Given the description of an element on the screen output the (x, y) to click on. 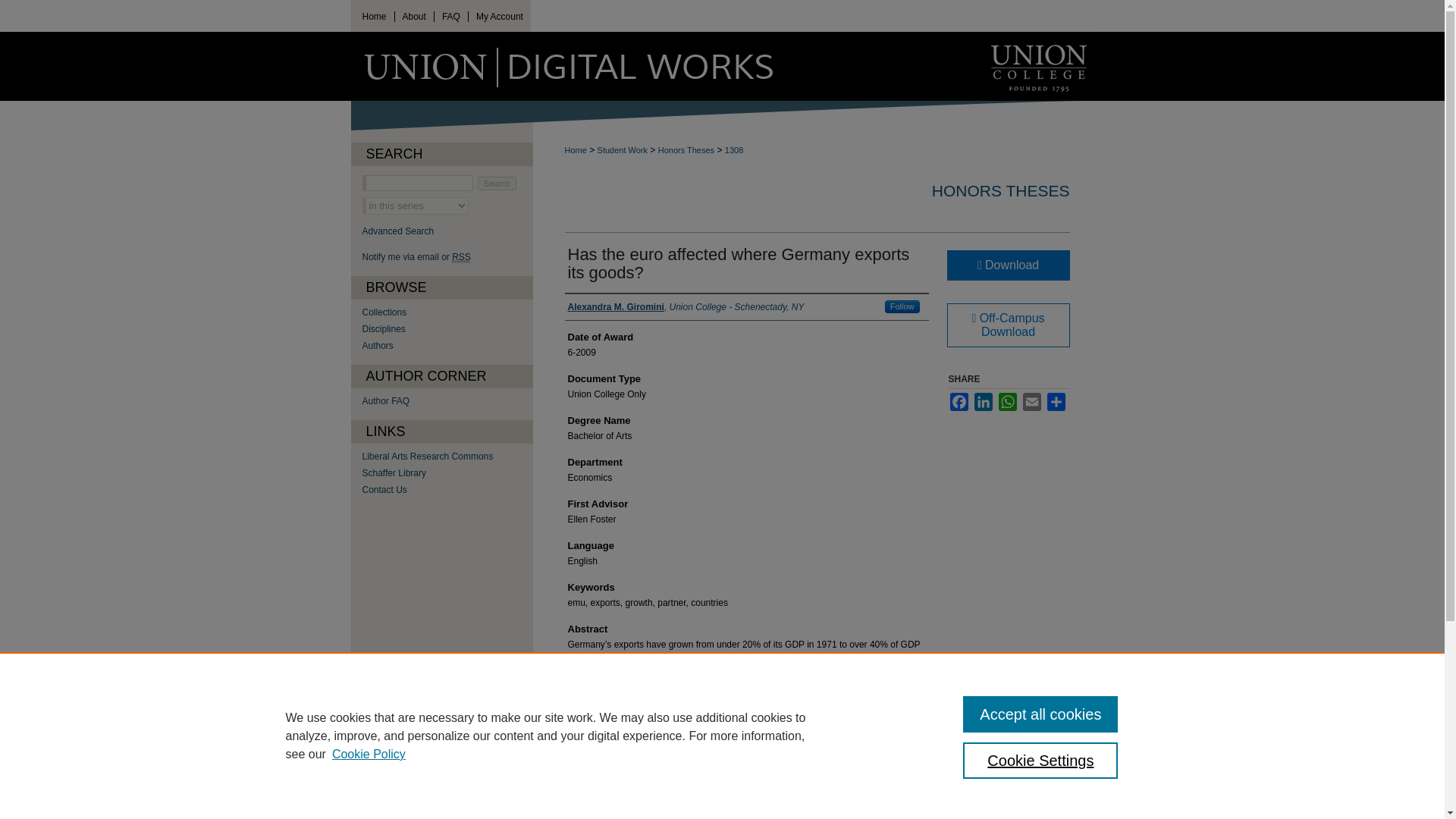
About (413, 17)
Facebook (958, 402)
Email (1031, 402)
WhatsApp (1006, 402)
LinkedIn (982, 402)
1308 (733, 149)
Browse by Collections (447, 312)
Email or RSS Notifications (447, 256)
Has the euro affected where Germany exports its goods? (737, 262)
Liberal Arts Research Commons (447, 456)
Follow Alexandra M. Giromini (902, 306)
Search (496, 183)
Really Simple Syndication (460, 256)
Search (496, 183)
My Account (499, 17)
